Given the description of an element on the screen output the (x, y) to click on. 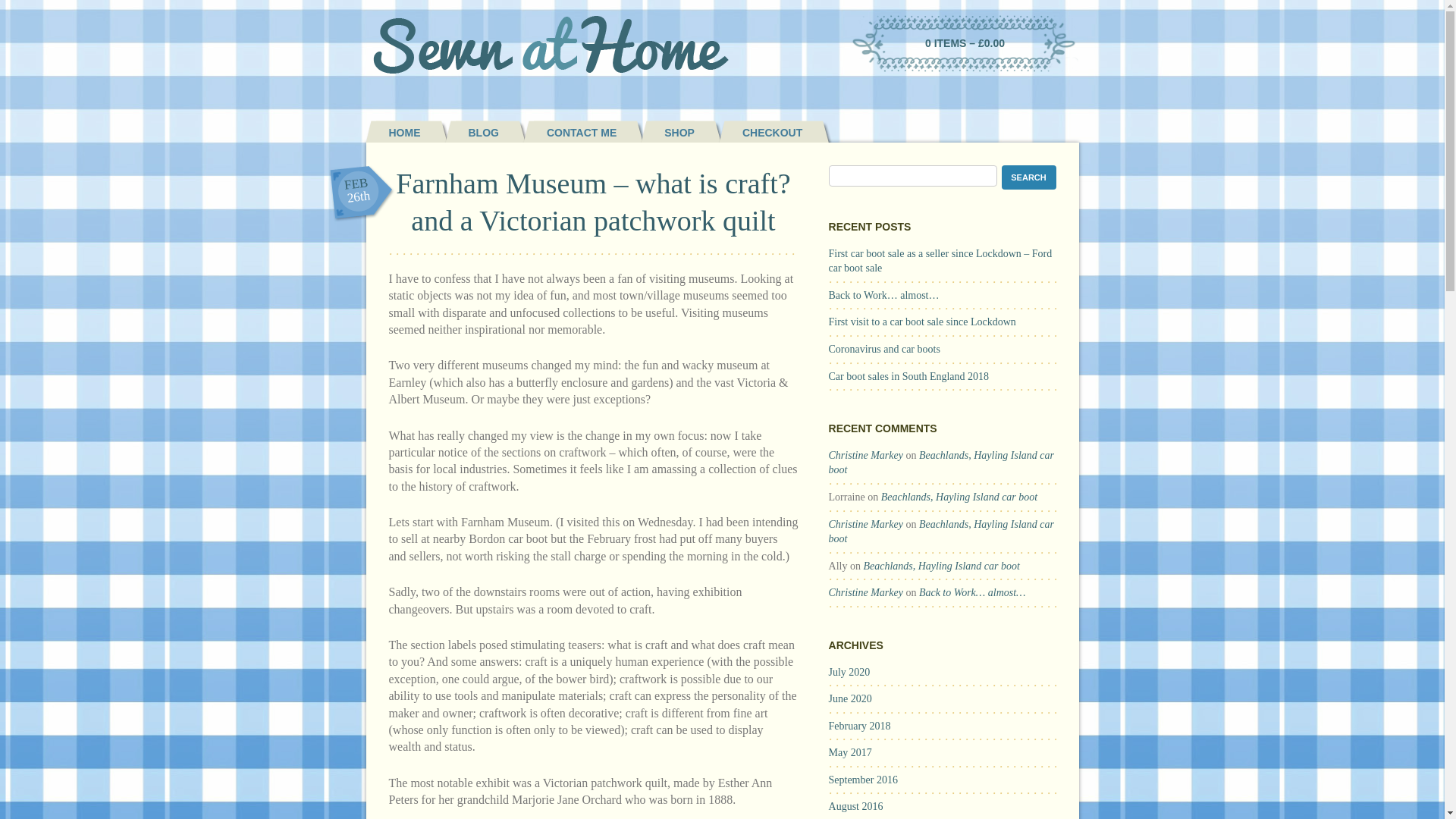
CONTACT ME (568, 132)
HOME (392, 132)
September 2016 (863, 779)
Beachlands, Hayling Island car boot (958, 496)
June 2020 (850, 698)
Beachlands, Hayling Island car boot (941, 565)
August 2016 (855, 806)
BLOG (471, 132)
First visit to a car boot sale since Lockdown (922, 321)
Christine Markey (865, 455)
